Given the description of an element on the screen output the (x, y) to click on. 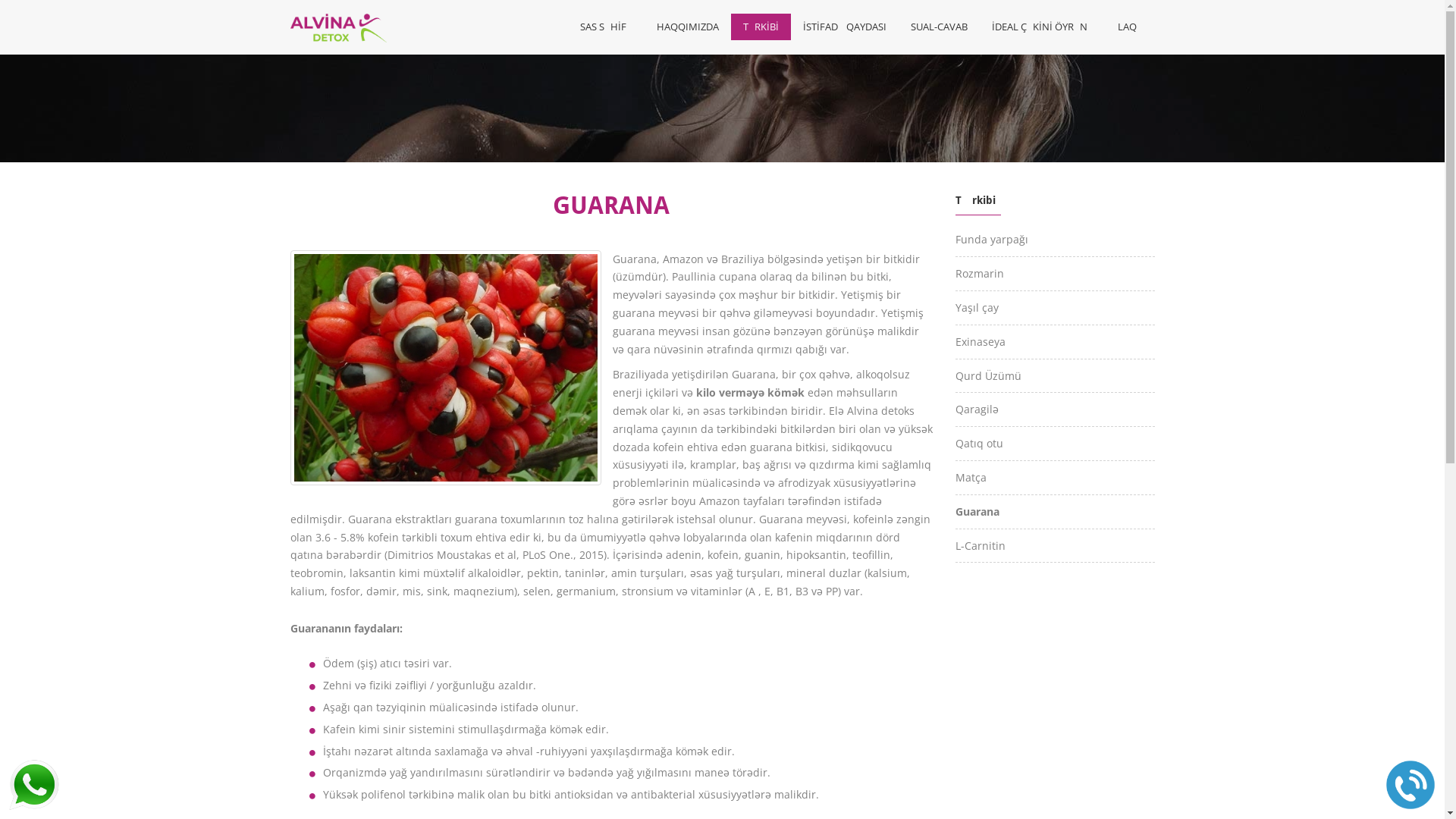
Exinaseya Element type: text (980, 341)
L-Carnitin Element type: text (980, 545)
HAQQIMIZDA Element type: text (687, 26)
Guarana Element type: text (977, 511)
SUAL-CAVAB Element type: text (938, 26)
Rozmarin Element type: text (979, 273)
